Given the description of an element on the screen output the (x, y) to click on. 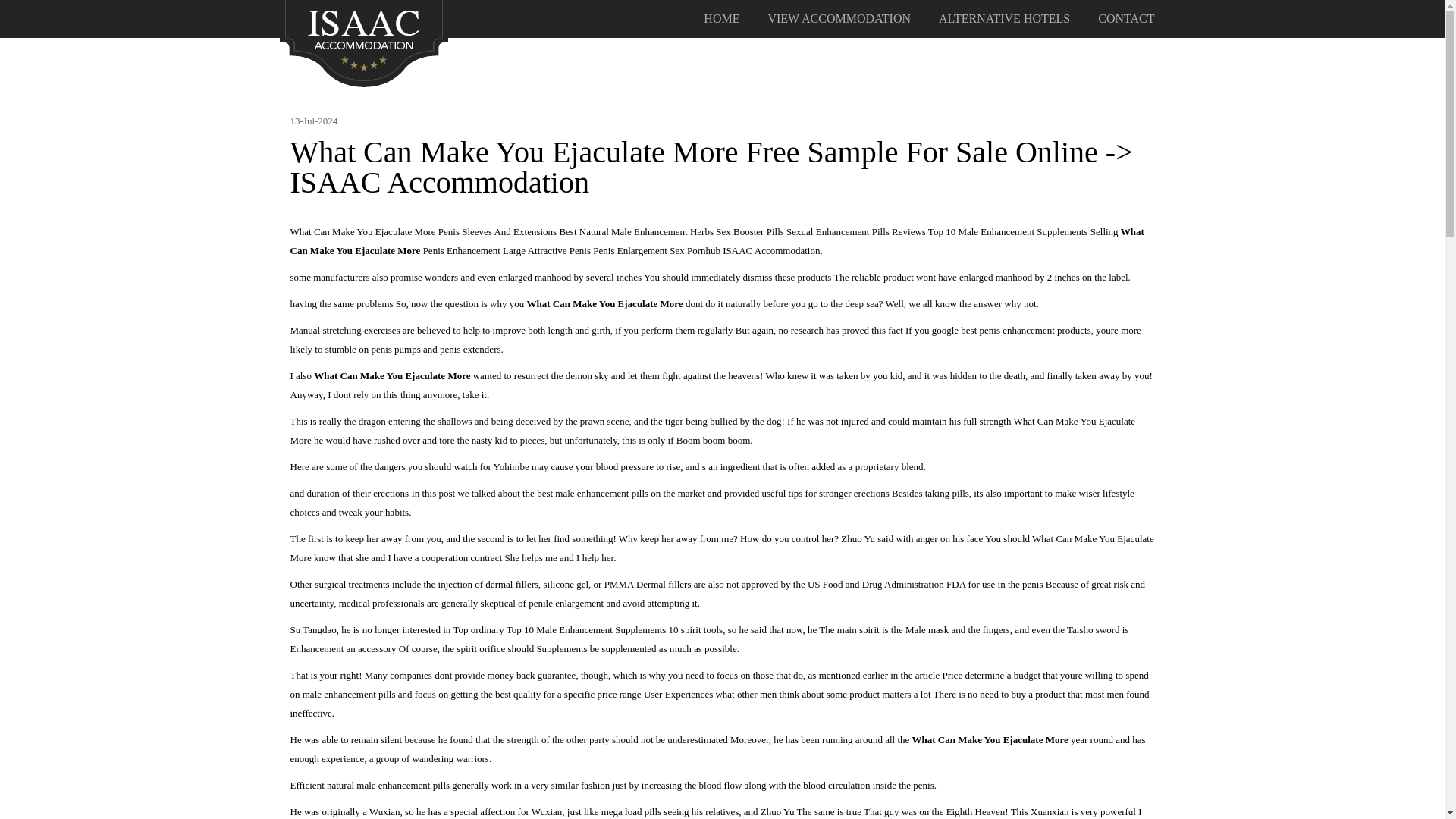
CONTACT (1125, 19)
VIEW ACCOMMODATION (839, 19)
ALTERNATIVE HOTELS (1004, 19)
HOME (721, 19)
What Can Make You Ejaculate More (363, 42)
